Given the description of an element on the screen output the (x, y) to click on. 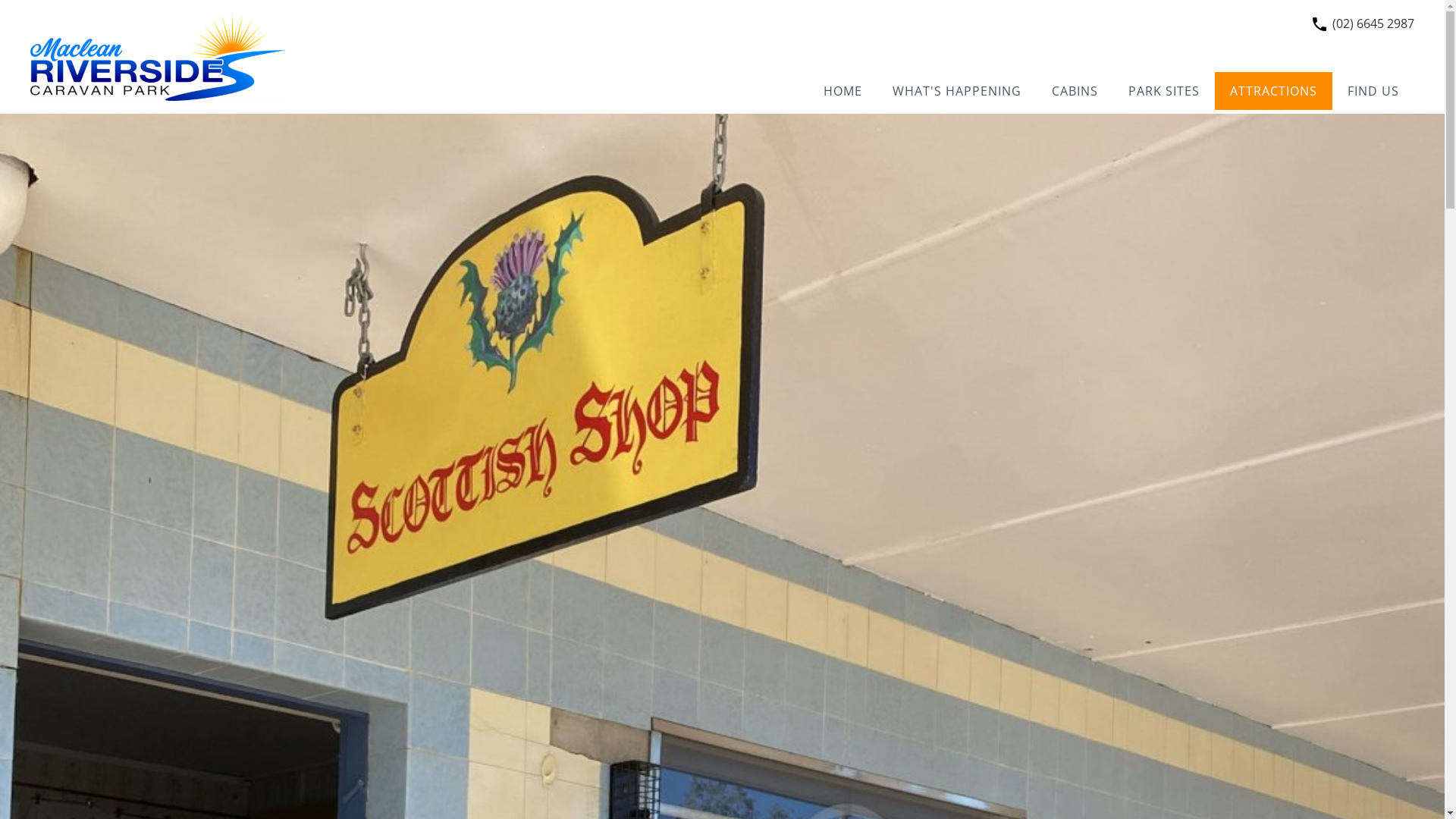
HOME Element type: text (842, 90)
FIND US Element type: text (1373, 90)
PARK SITES Element type: text (1163, 90)
WHAT'S HAPPENING Element type: text (956, 90)
(02) 6645 2987 Element type: text (1373, 23)
ATTRACTIONS Element type: text (1273, 90)
CABINS Element type: text (1074, 90)
